Given the description of an element on the screen output the (x, y) to click on. 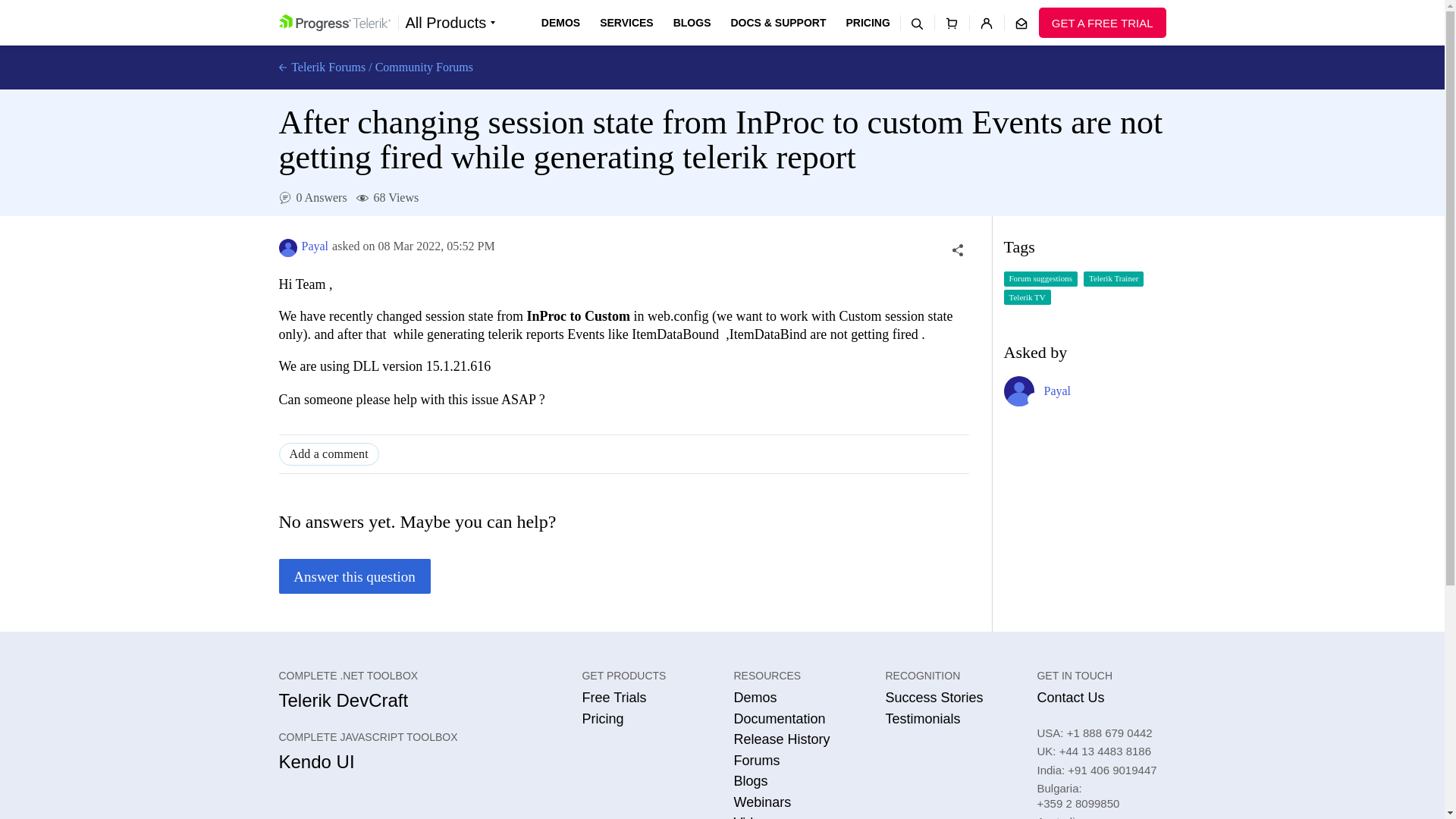
All Products (449, 22)
Telerik Trainer (1113, 278)
Forum suggestions (1040, 278)
SKIP NAVIGATION (339, 7)
Telerik TV (1027, 296)
SERVICES (626, 22)
